Given the description of an element on the screen output the (x, y) to click on. 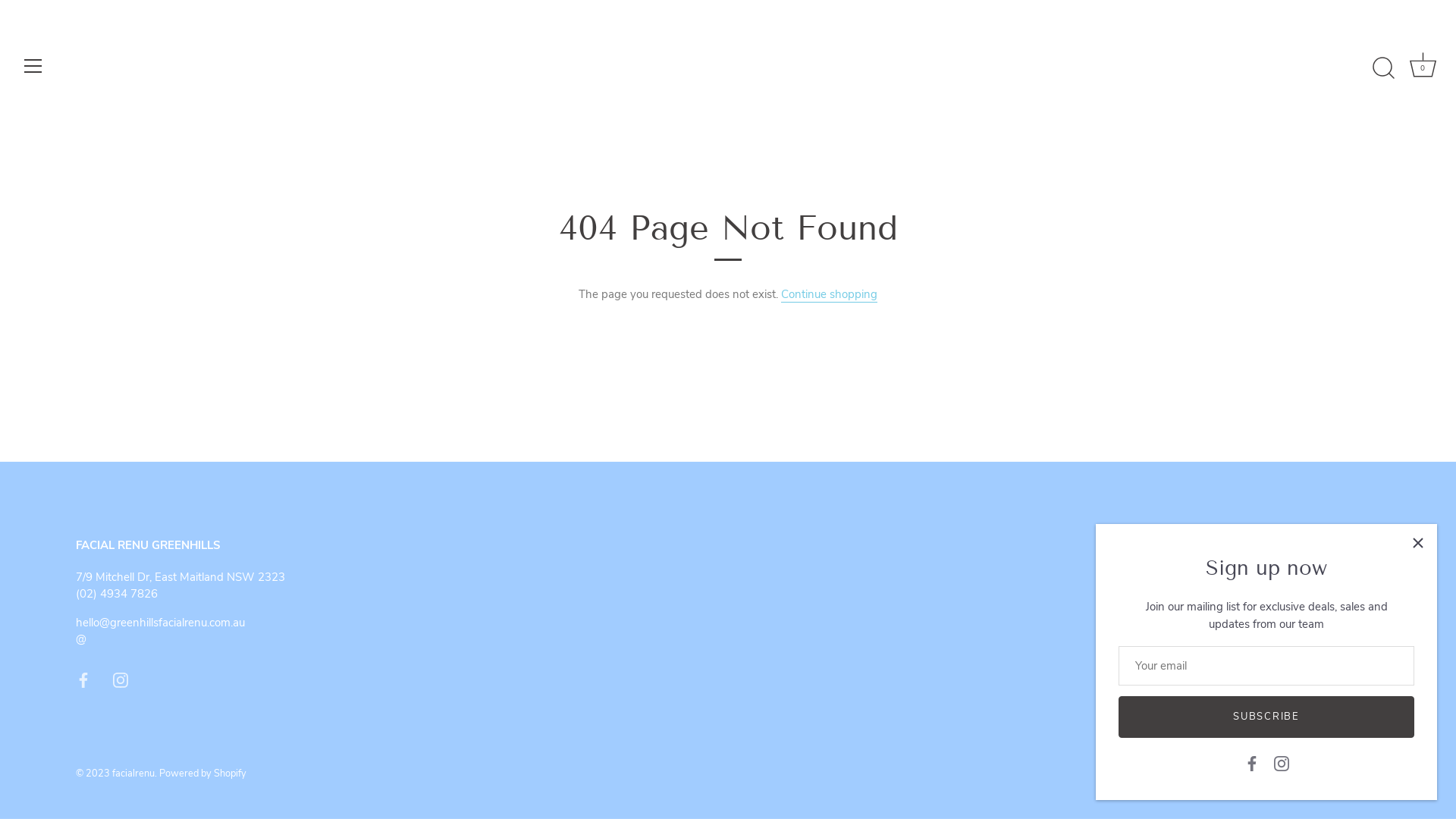
Cart
0 Element type: text (1422, 67)
Instagram Element type: text (120, 679)
facialrenu Element type: text (133, 773)
(02) 4934 7826 Element type: text (116, 593)
RIGHT ARROW LONG Element type: text (1372, 641)
hello@greenhillsfacialrenu.com.au
@ Element type: text (159, 631)
Powered by Shopify Element type: text (202, 773)
Continue shopping Element type: text (829, 294)
Instagram Element type: text (1281, 762)
SUBSCRIBE Element type: text (1266, 716)
